Given the description of an element on the screen output the (x, y) to click on. 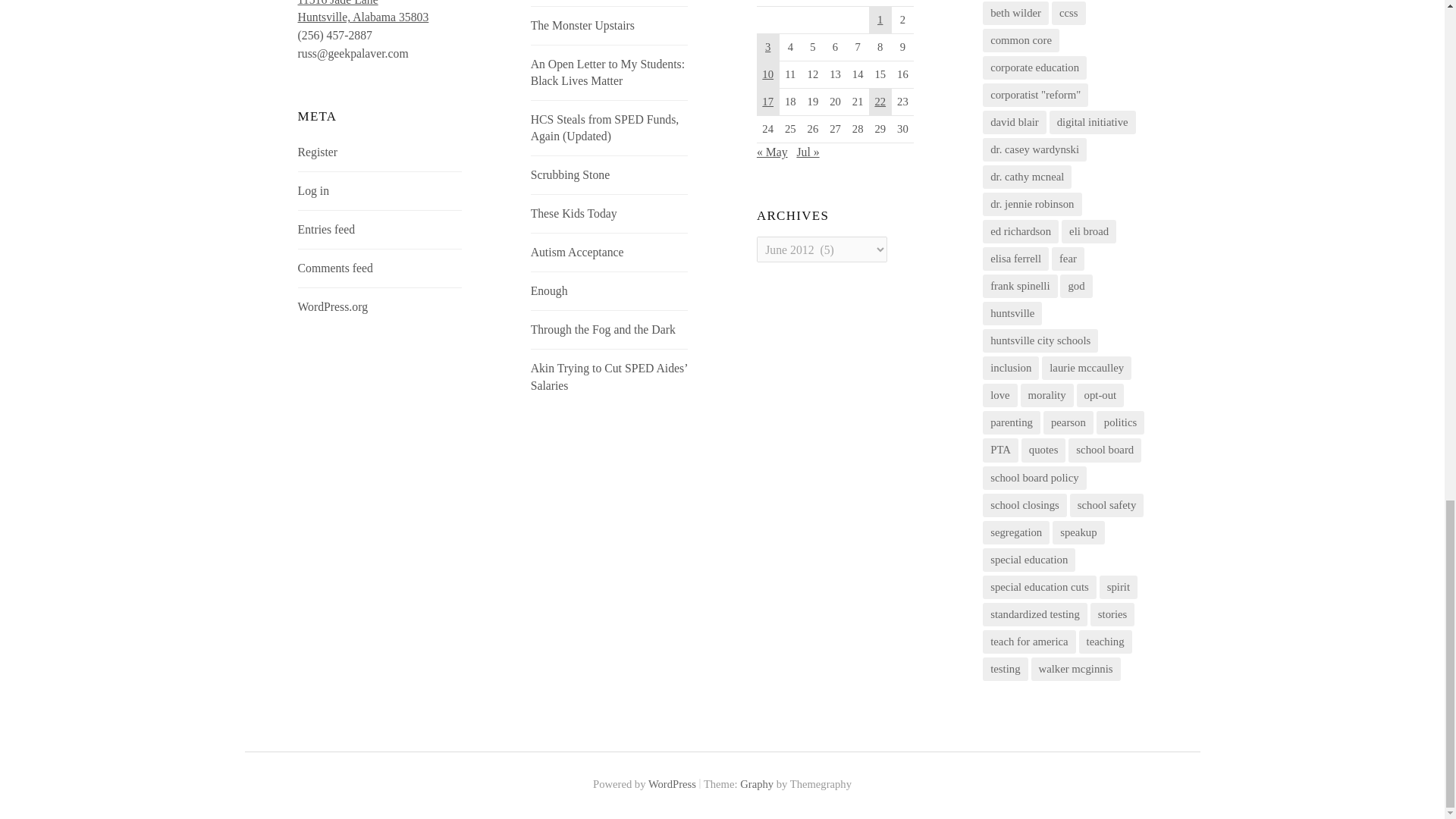
Monday (790, 2)
Sunday (767, 2)
Log in (314, 190)
Comments feed (335, 267)
Tuesday (813, 2)
Thursday (363, 12)
Wednesday (857, 2)
The Monster Upstairs (835, 2)
Friday (582, 24)
Saturday (880, 2)
An Open Letter to My Students: Black Lives Matter (902, 2)
Entries feed (607, 71)
Register (326, 228)
WordPress.org (317, 151)
